Given the description of an element on the screen output the (x, y) to click on. 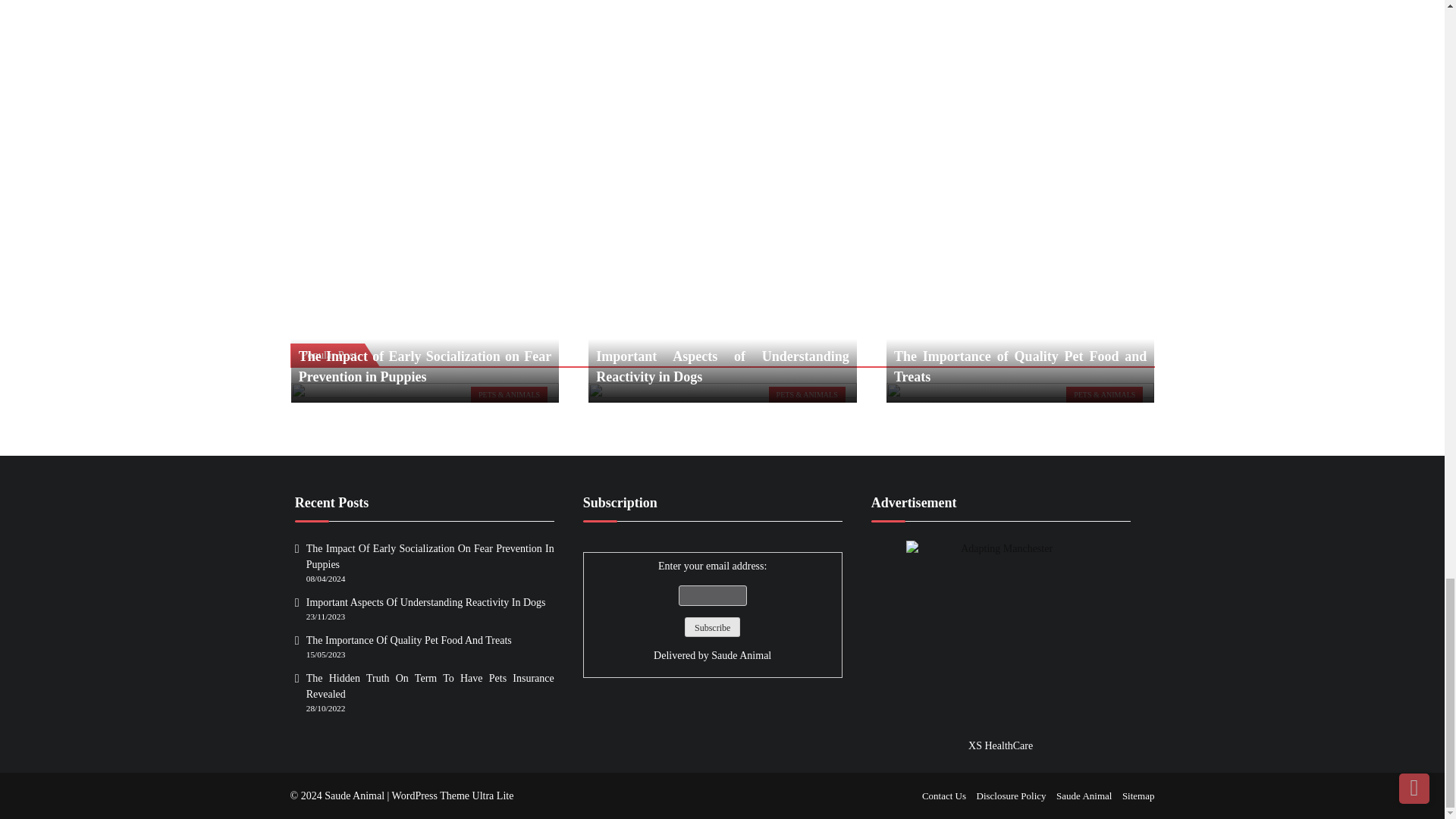
Subscribe (711, 627)
